Given the description of an element on the screen output the (x, y) to click on. 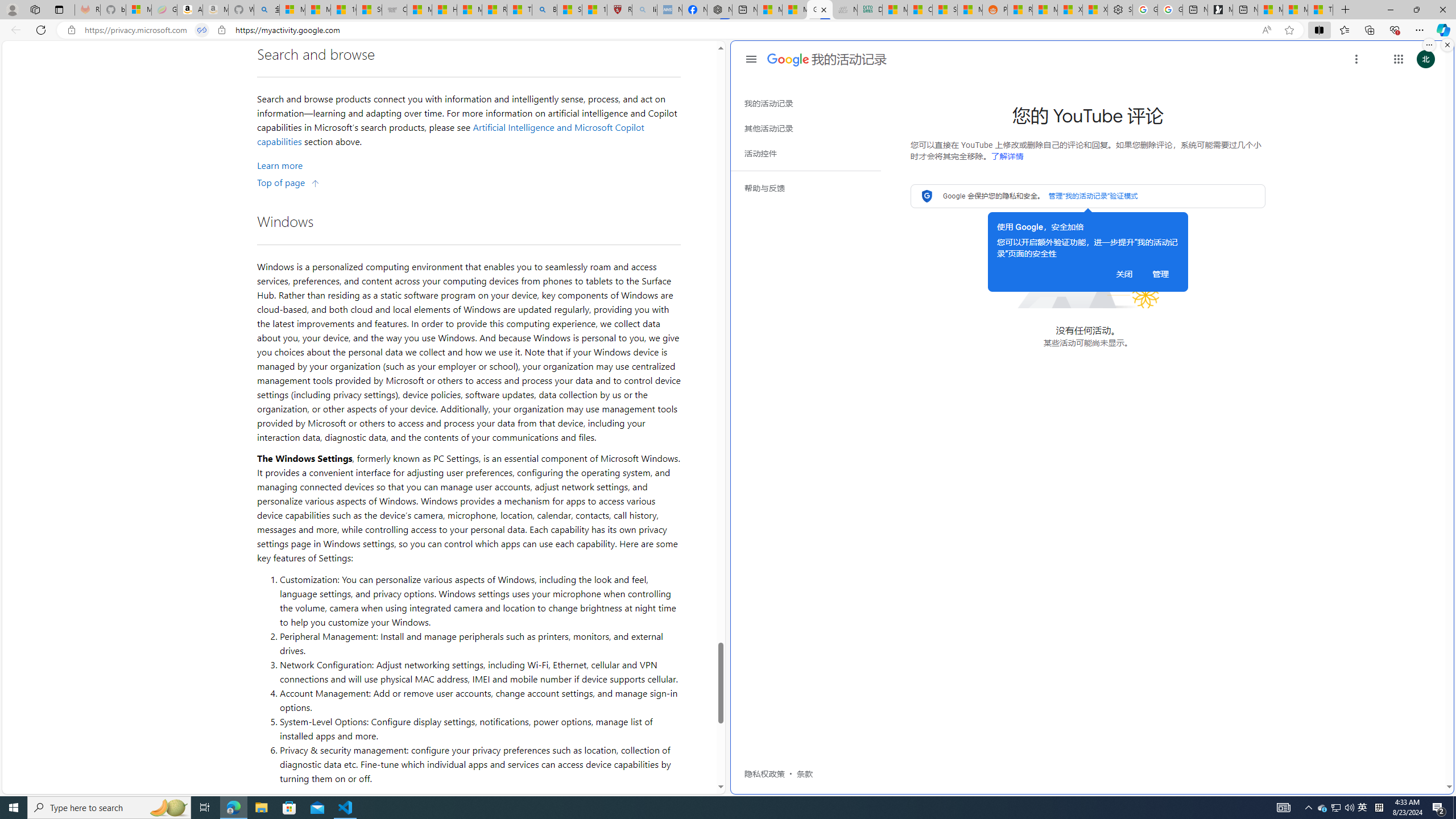
MSNBC - MSN (894, 9)
Microsoft-Report a Concern to Bing (137, 9)
R******* | Trusted Community Engagement and Contributions (1019, 9)
Top of page (288, 182)
Microsoft Start (1295, 9)
Science - MSN (568, 9)
Settings and more (Alt+F) (1419, 29)
